Given the description of an element on the screen output the (x, y) to click on. 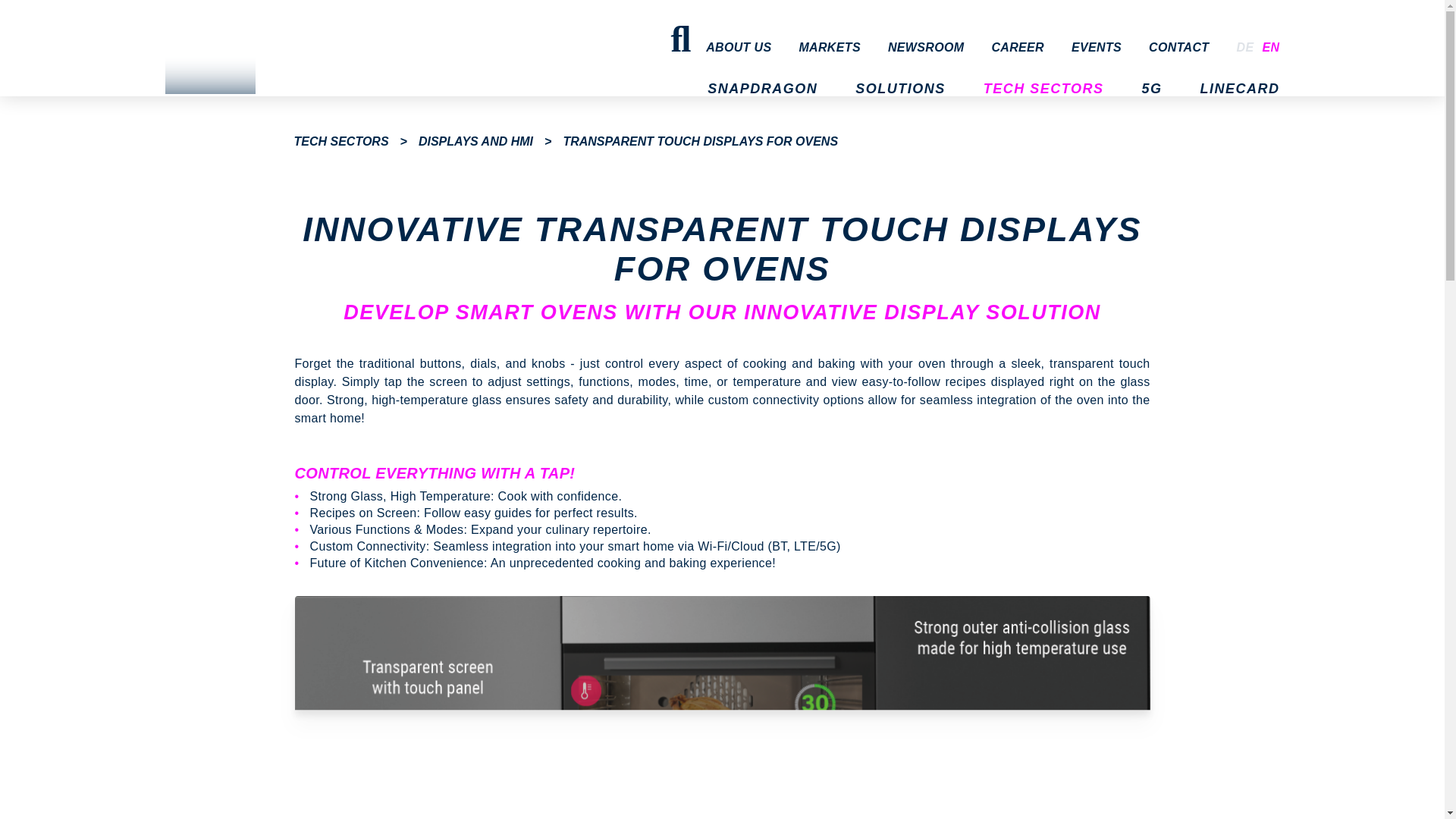
SOLUTIONS (900, 103)
ABOUT US (738, 47)
EVENTS (1096, 47)
EN (1268, 47)
NEWSROOM (925, 47)
Tech Sectors (341, 141)
Displays and HMI (475, 141)
CAREER (1017, 47)
DE (1246, 47)
CONTACT (1178, 47)
MARKETS (828, 47)
SNAPDRAGON (762, 103)
